Given the description of an element on the screen output the (x, y) to click on. 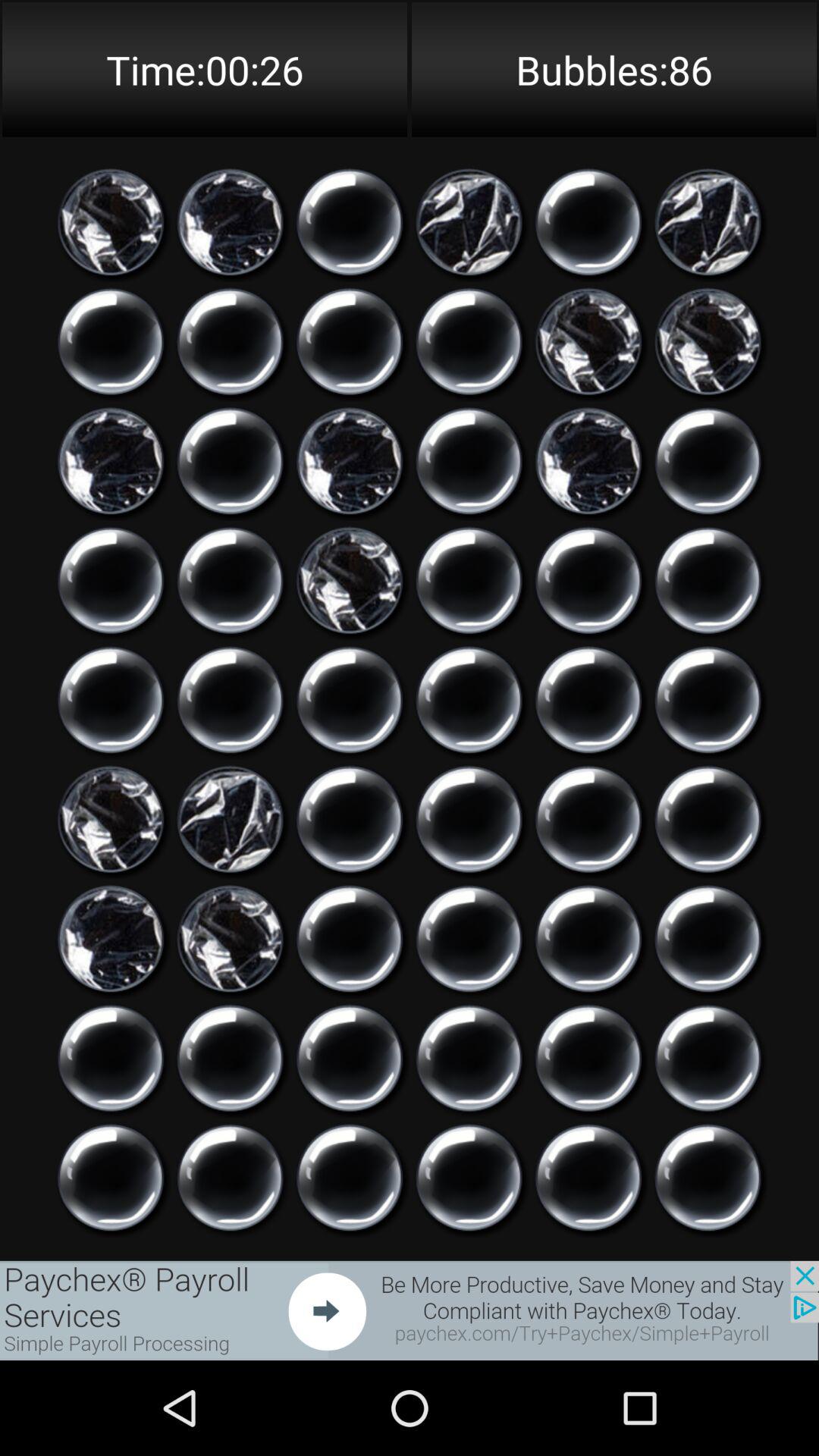
make the bubble burst (707, 819)
